Given the description of an element on the screen output the (x, y) to click on. 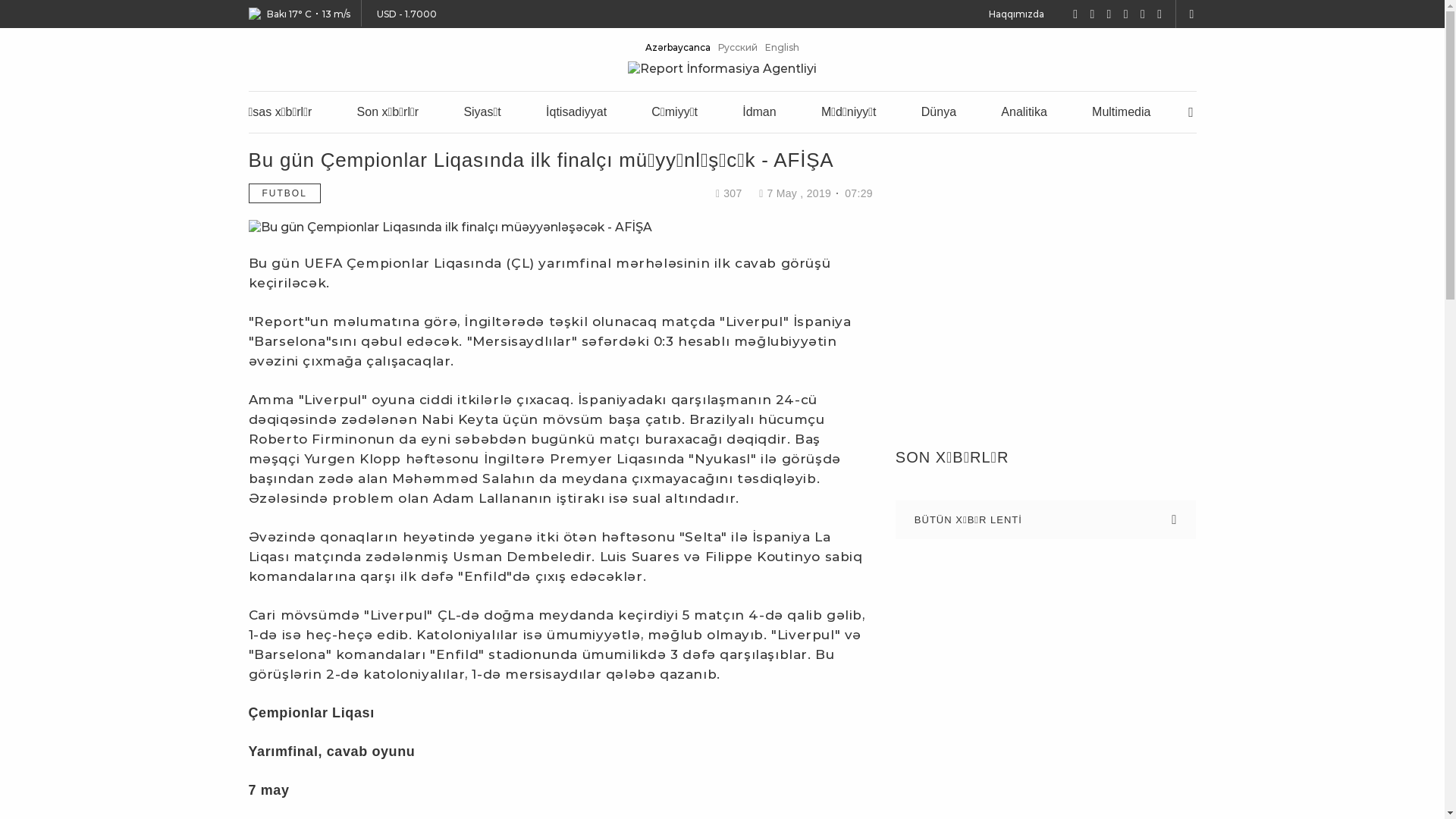
13 m/s Element type: text (335, 13)
USD - 1.7000 Element type: text (404, 13)
Analitika Element type: text (1023, 111)
Multimedia Element type: text (1121, 111)
FUTBOL Element type: text (284, 193)
English Element type: text (782, 47)
